Given the description of an element on the screen output the (x, y) to click on. 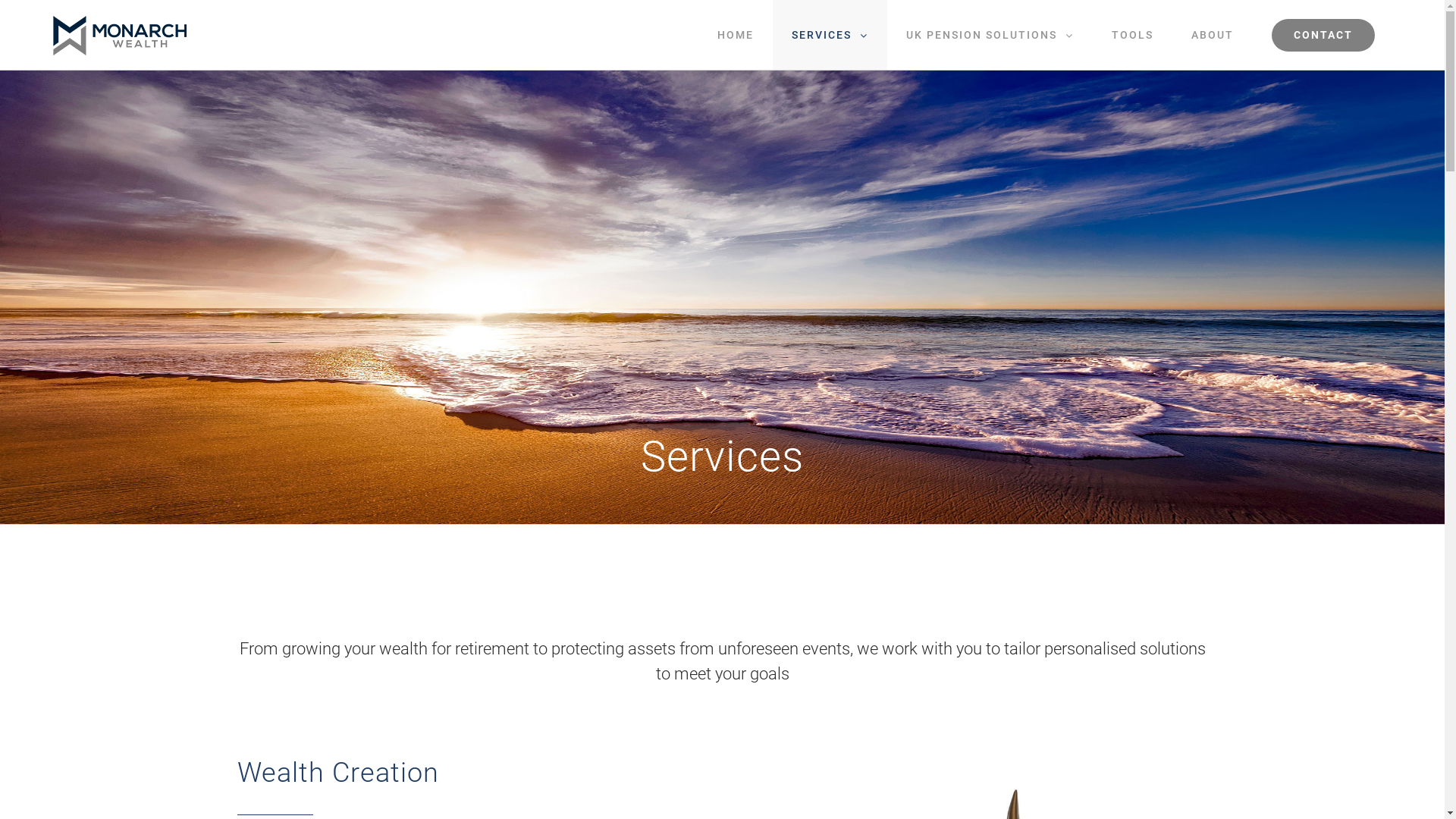
SERVICES Element type: text (829, 34)
UK PENSION SOLUTIONS Element type: text (989, 34)
TOOLS Element type: text (1132, 34)
CONTACT Element type: text (1322, 34)
HOME Element type: text (735, 34)
ABOUT Element type: text (1212, 34)
